Given the description of an element on the screen output the (x, y) to click on. 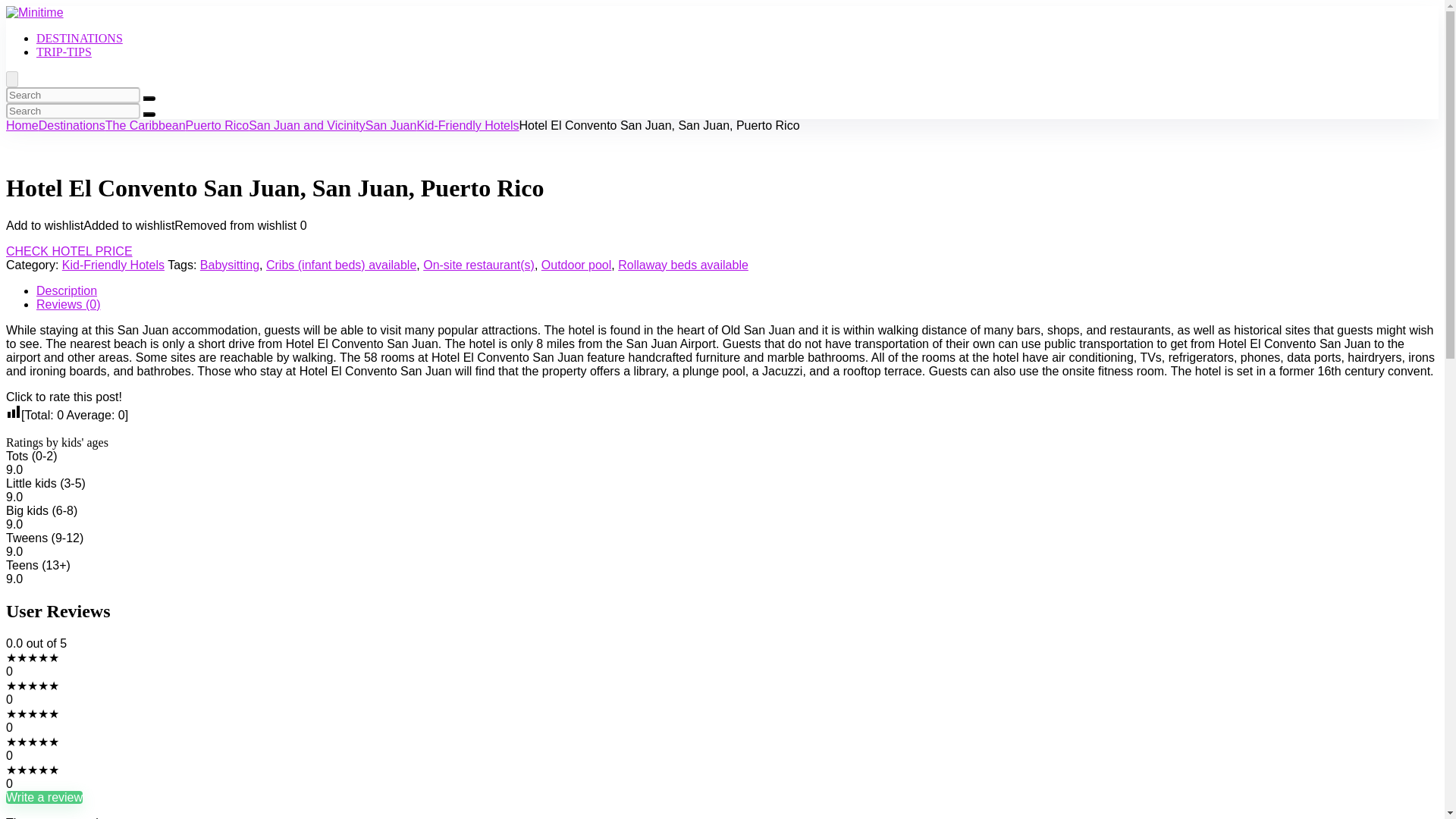
Kid-Friendly Hotels (467, 124)
Home (22, 124)
CHECK HOTEL PRICE (68, 250)
Rollaway beds available (682, 264)
Description (66, 290)
San Juan (390, 124)
DESTINATIONS (79, 38)
Destinations (71, 124)
Puerto Rico (217, 124)
TRIP-TIPS (63, 51)
